Given the description of an element on the screen output the (x, y) to click on. 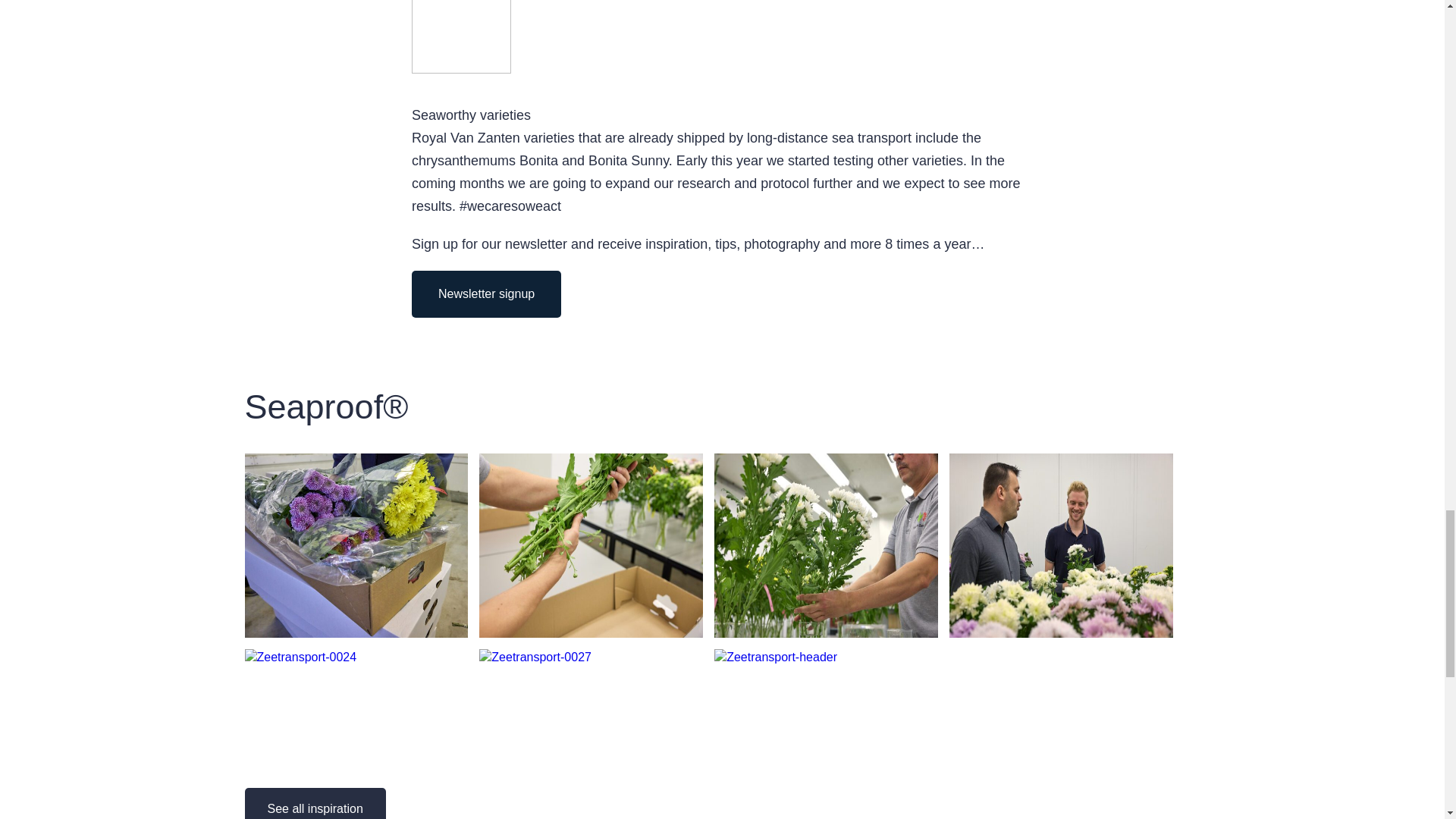
Zeetransport-header (775, 656)
Zeetransport-0030 (591, 633)
Newsletter signup (486, 294)
Zeetransport-0011 (355, 633)
See all inspiration (314, 803)
Zeetransport-0049 (825, 633)
Zeetransport-0057 (1061, 633)
Zeetransport-0024 (300, 656)
Zeetransport-0027 (535, 656)
